Given the description of an element on the screen output the (x, y) to click on. 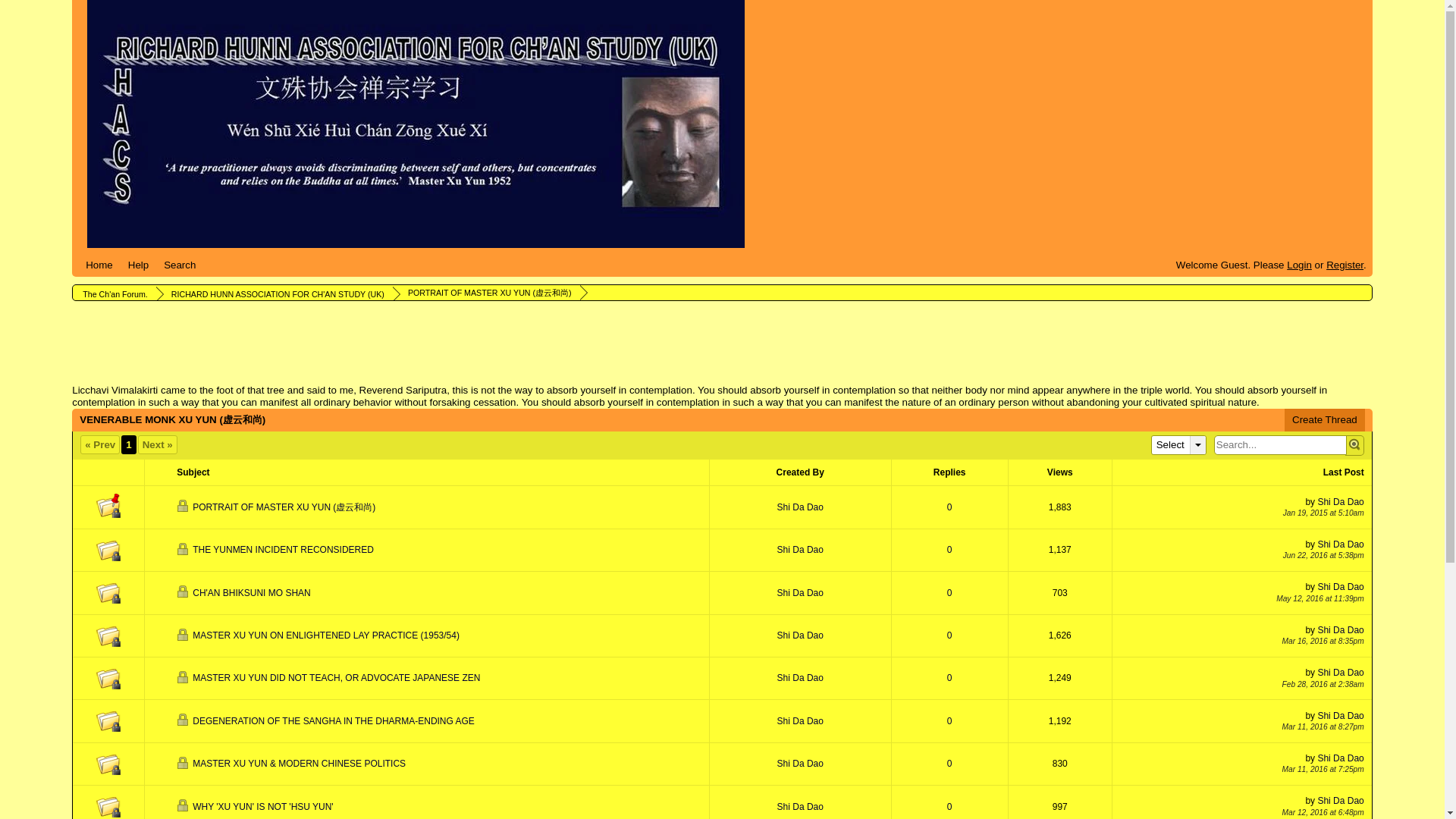
Thread Locked Sticky (108, 505)
Search (179, 264)
This thread is locked (184, 505)
This thread is locked (184, 548)
Help (137, 264)
Register (1344, 265)
Home (99, 264)
Thread Locked (108, 549)
Login (1299, 265)
The Ch'an Forum. (113, 294)
